Given the description of an element on the screen output the (x, y) to click on. 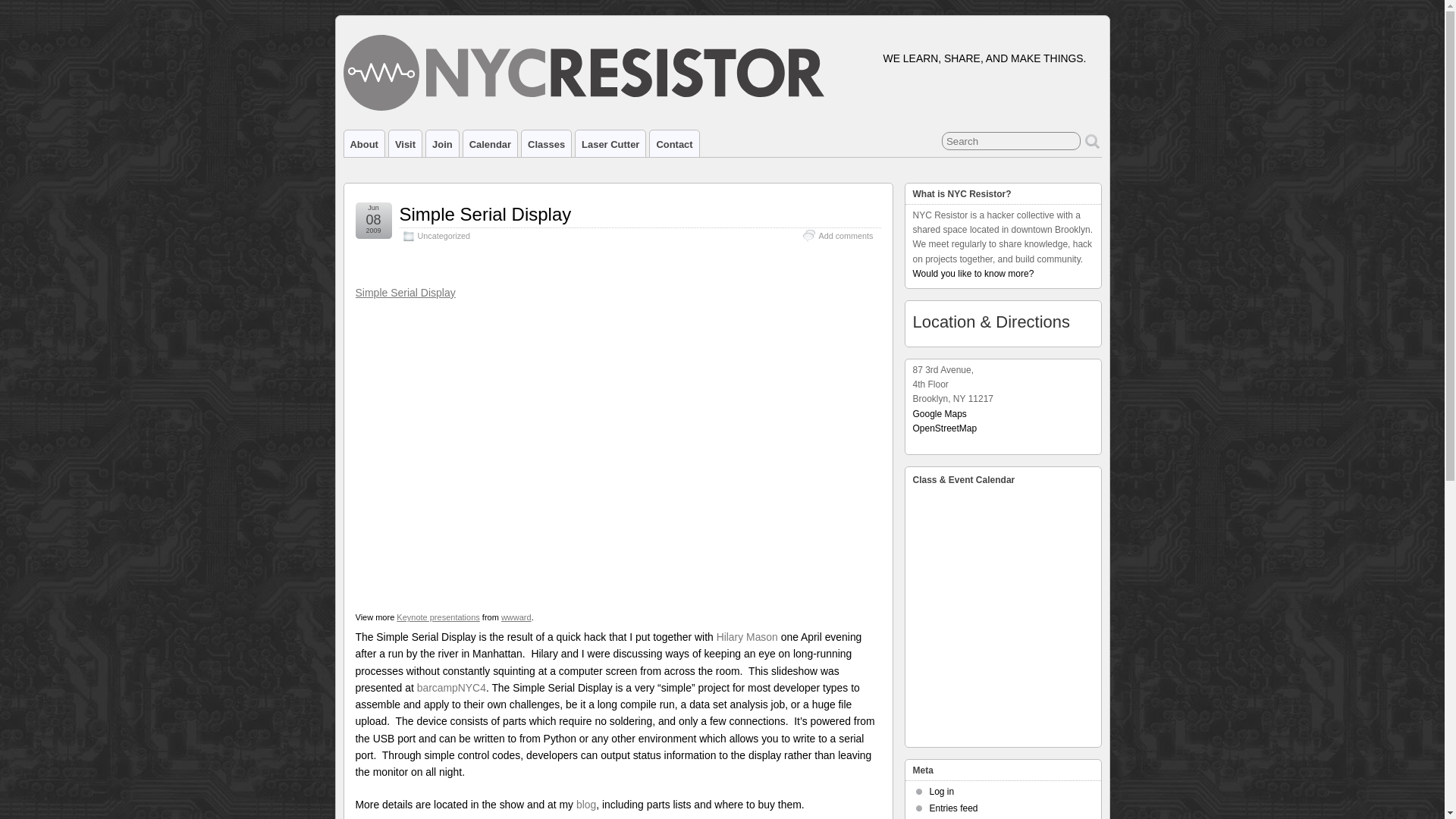
Hilary Mason (746, 636)
barcampNYC4 (451, 687)
Simple Serial Display (516, 292)
wwward (515, 616)
Hilary Mason (746, 636)
OpenStreetMap (944, 428)
Contact (673, 143)
About (363, 143)
Would you like to know more? (972, 273)
Simple Serial Display (484, 213)
